Given the description of an element on the screen output the (x, y) to click on. 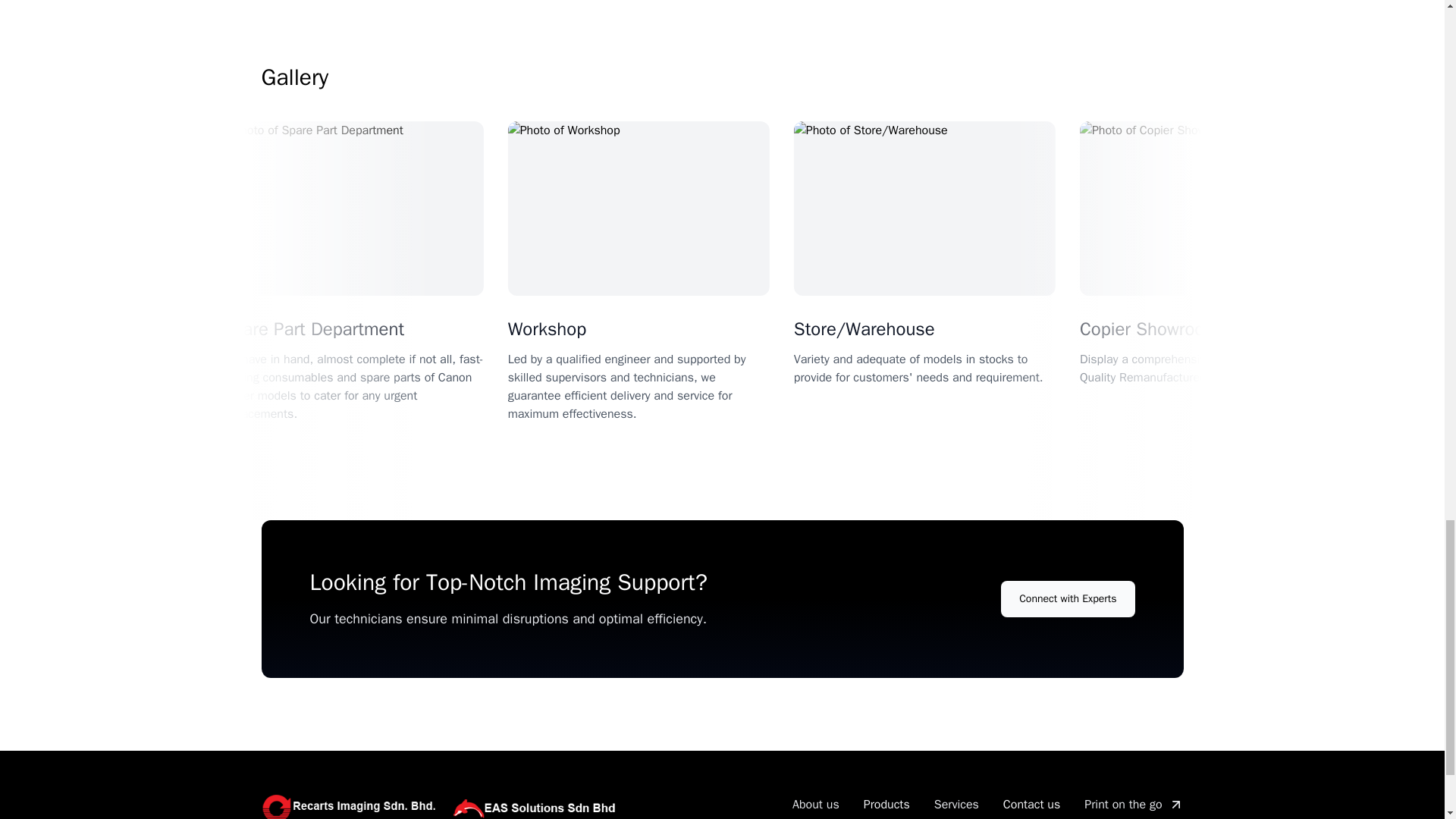
About us (816, 804)
Services (956, 804)
Connect with Experts (1067, 598)
Products (886, 804)
Print on the go (1133, 804)
Recarts Imaging Sdn. Bhd. (443, 804)
Contact us (1031, 804)
